Given the description of an element on the screen output the (x, y) to click on. 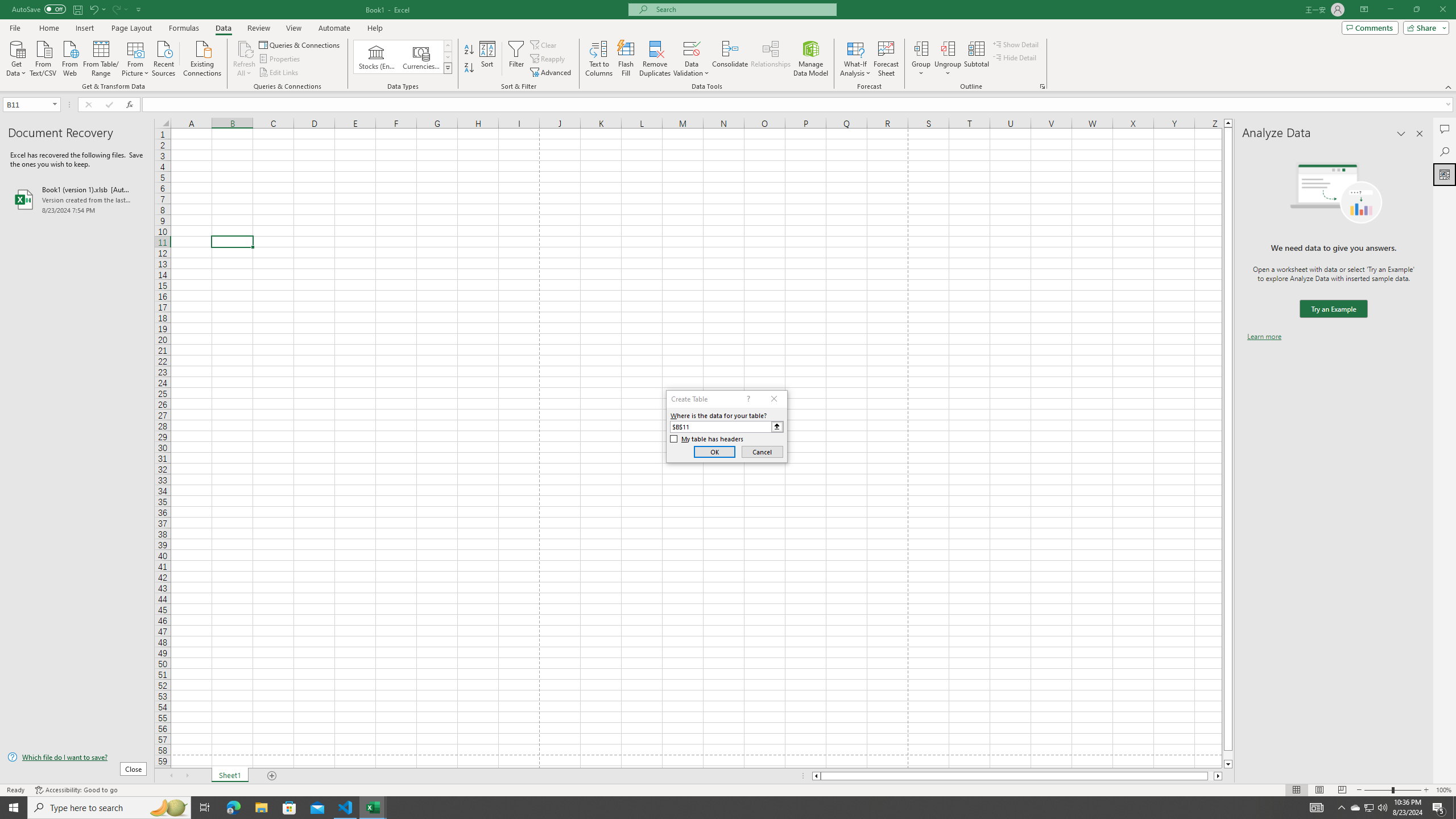
Sort... (487, 58)
Show Detail (1016, 44)
Microsoft search (742, 9)
AutomationID: ConvertToLinkedEntity (403, 56)
Restore Down (1416, 9)
Remove Duplicates (654, 58)
Filter (515, 58)
